Given the description of an element on the screen output the (x, y) to click on. 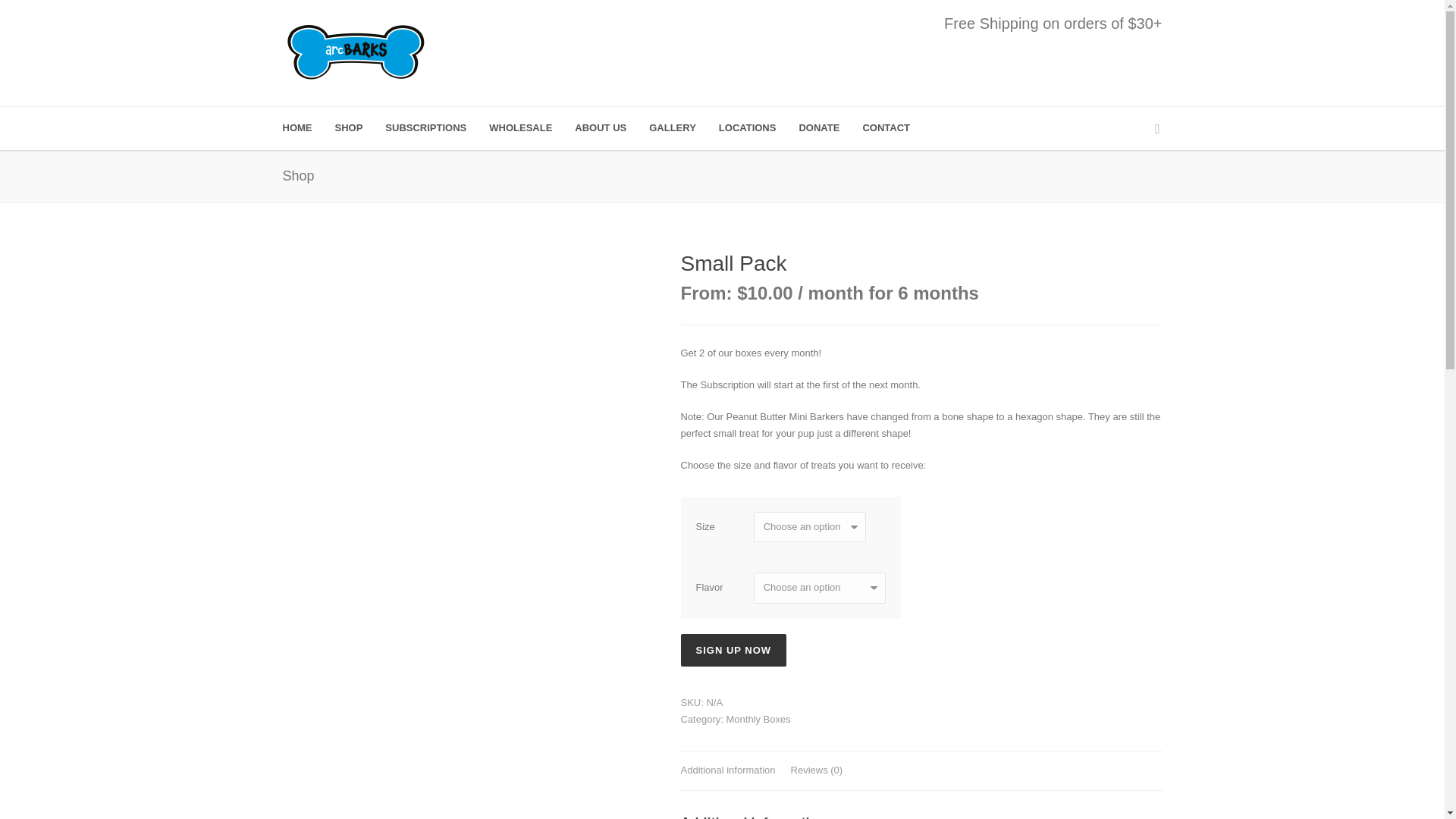
WHOLESALE (532, 128)
GALLERY (684, 128)
ABOUT US (612, 128)
SIGN UP NOW (734, 649)
Monthly Boxes (757, 718)
SHOP (359, 128)
DONATE (829, 128)
Additional information (728, 771)
LOCATIONS (759, 128)
HOME (308, 128)
